Given the description of an element on the screen output the (x, y) to click on. 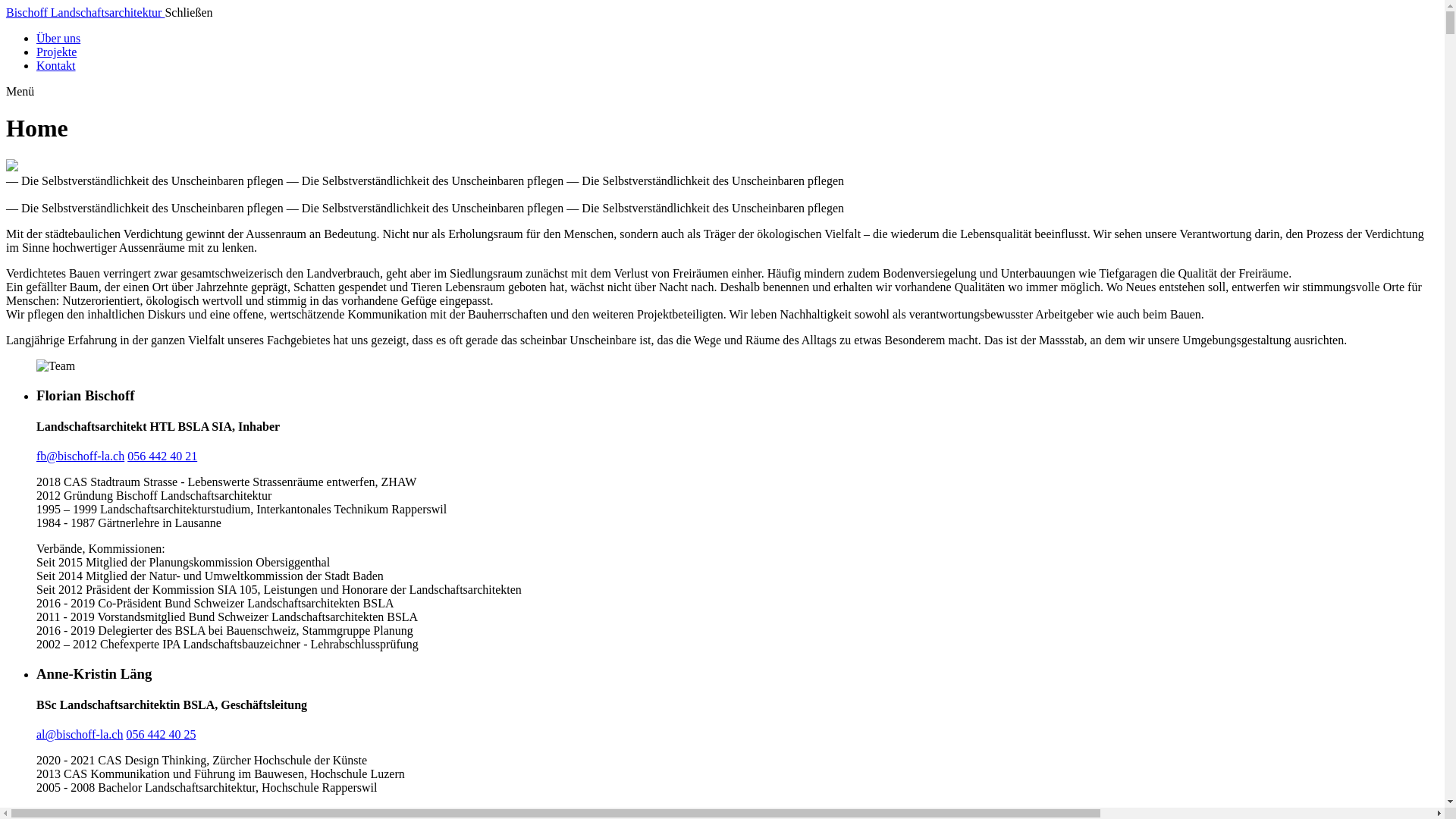
056 442 40 25 Element type: text (160, 734)
fb@bischoff-la.ch Element type: text (80, 455)
Projekte Element type: text (56, 51)
Kontakt Element type: text (55, 65)
al@bischoff-la.ch Element type: text (79, 734)
Bischoff Landschaftsarchitektur Element type: text (85, 12)
056 442 40 21 Element type: text (162, 455)
